Given the description of an element on the screen output the (x, y) to click on. 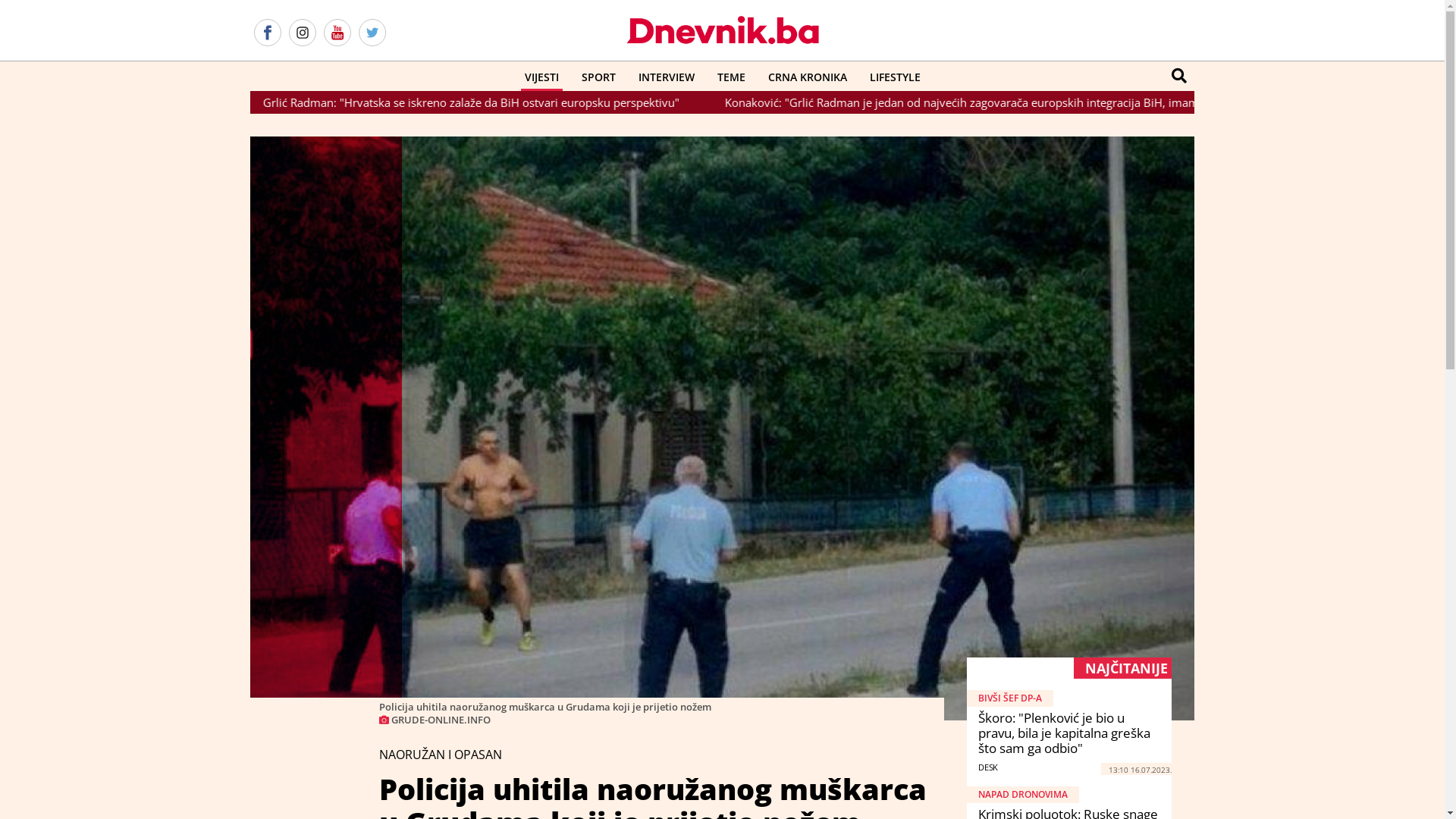
LIFESTYLE Element type: text (895, 76)
VIJESTI Element type: text (540, 76)
SPORT Element type: text (598, 76)
INTERVIEW Element type: text (665, 76)
CRNA KRONIKA Element type: text (807, 76)
Pretraga Element type: hover (1179, 75)
Galerija Element type: hover (722, 428)
TEME Element type: text (730, 76)
Dnevnik.ba Element type: hover (721, 30)
